Given the description of an element on the screen output the (x, y) to click on. 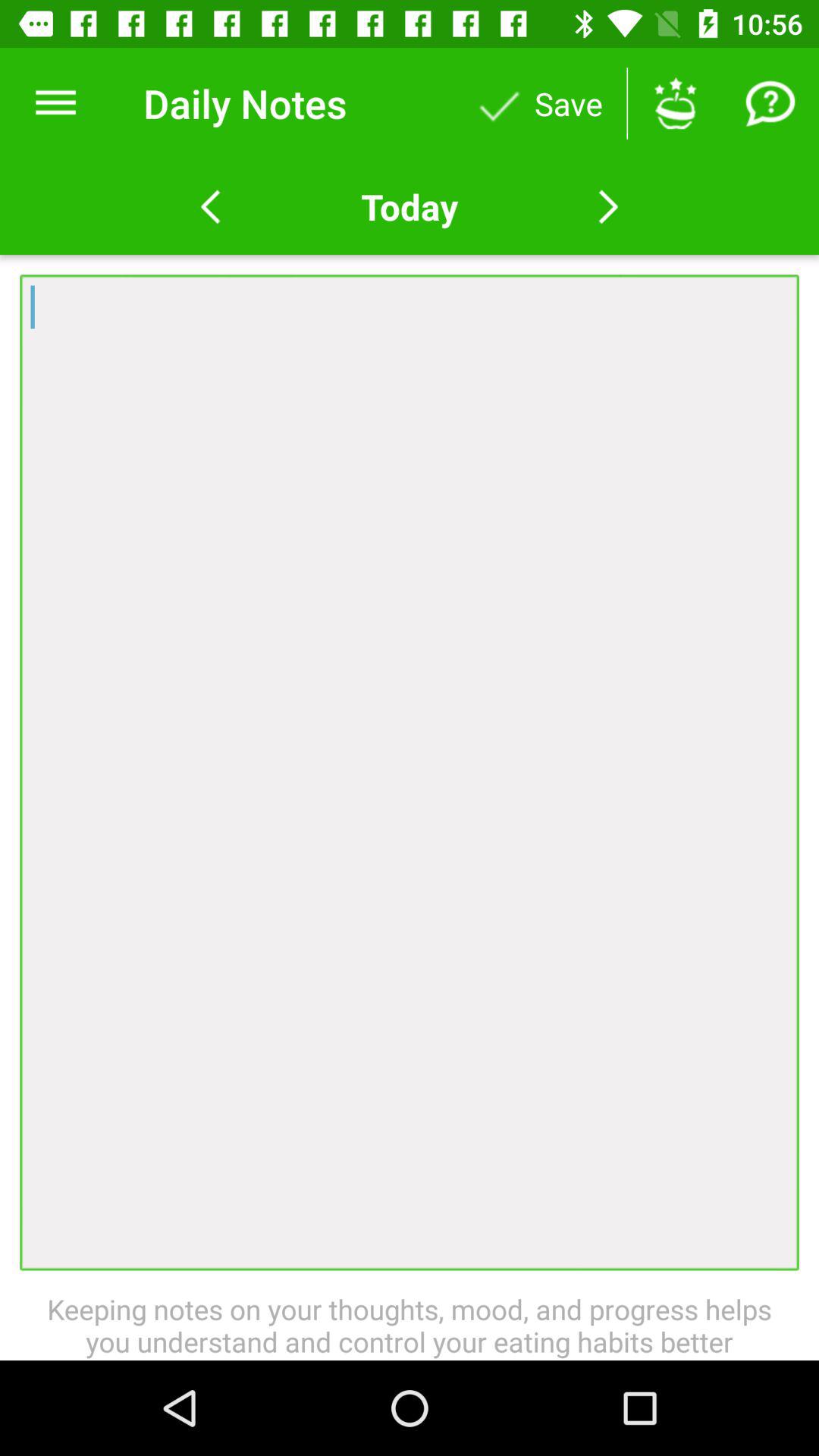
select icon above keeping notes on item (409, 772)
